Given the description of an element on the screen output the (x, y) to click on. 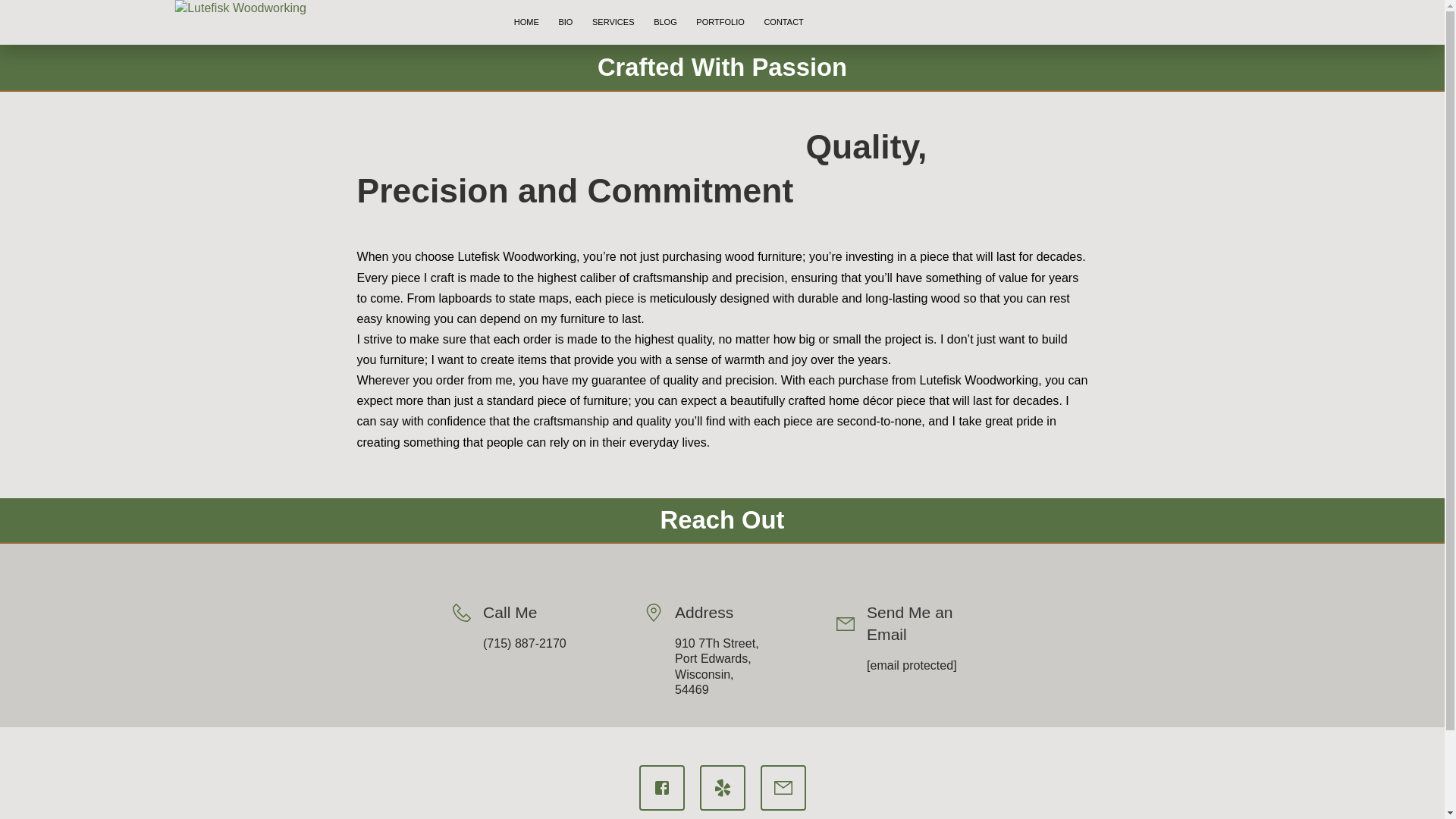
CONTACT (783, 22)
BIO (565, 22)
PORTFOLIO (720, 22)
SERVICES (612, 22)
HOME (525, 22)
BLOG (664, 22)
